Given the description of an element on the screen output the (x, y) to click on. 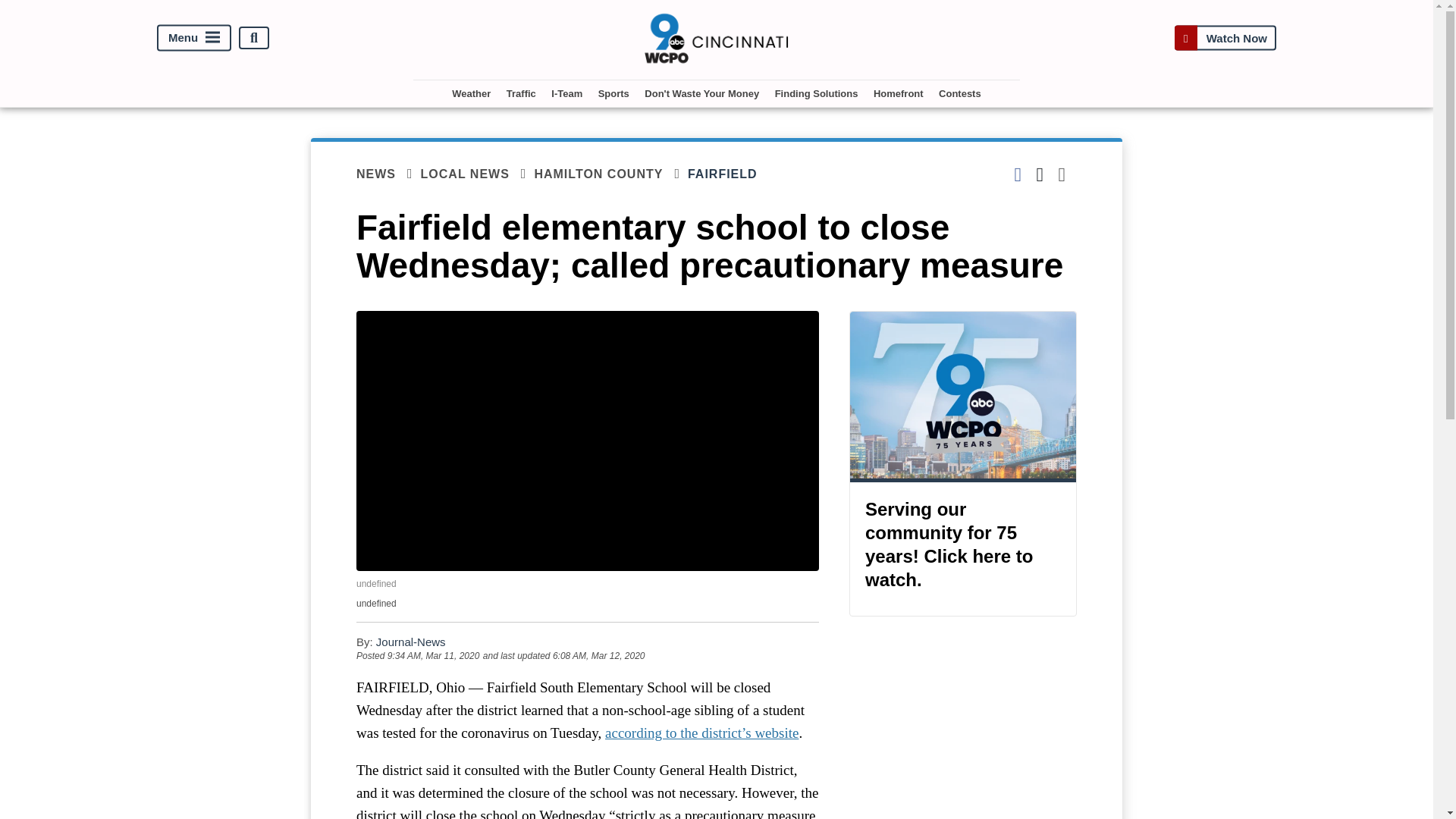
Watch Now (1224, 38)
Menu (194, 38)
